Given the description of an element on the screen output the (x, y) to click on. 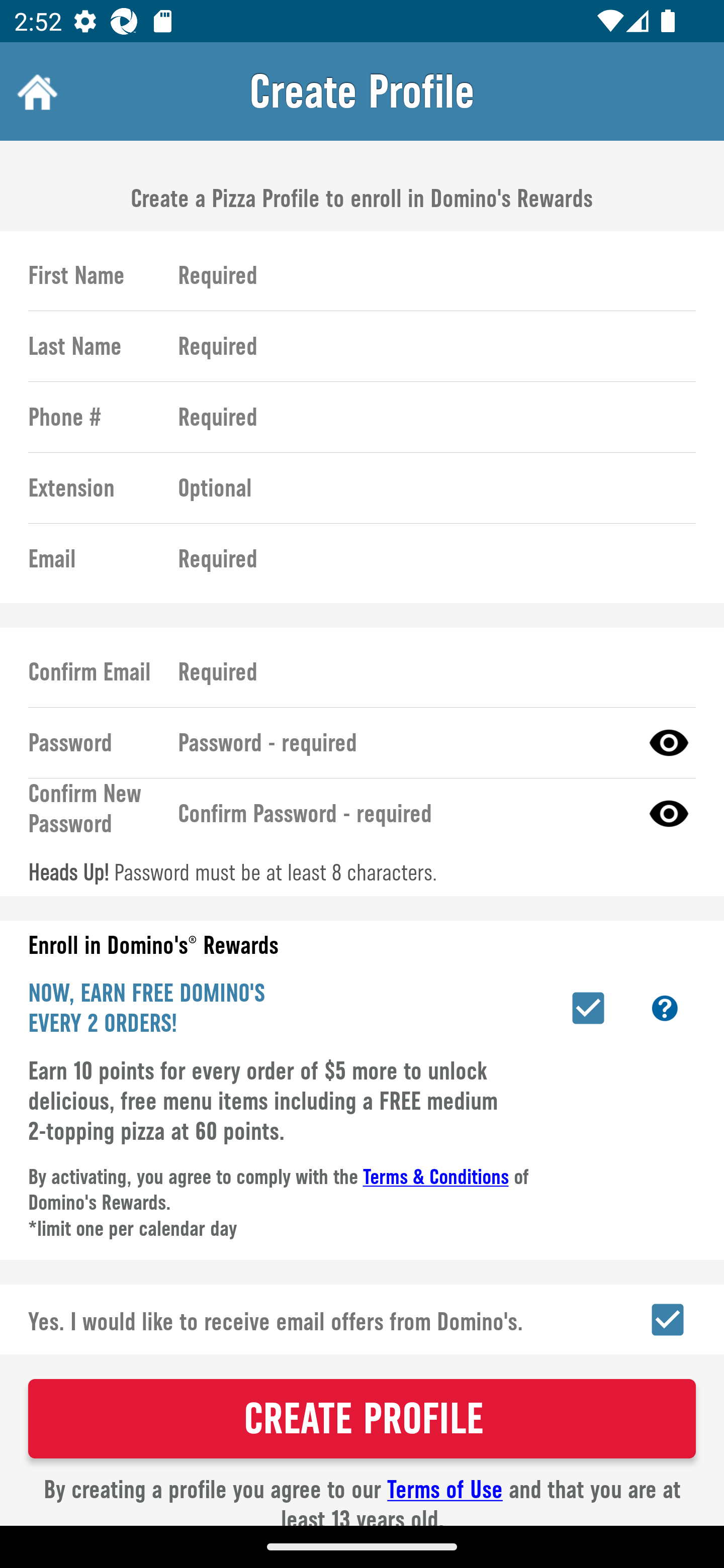
Home (35, 91)
Required First Name is required. 
 (427, 274)
Required Last Name is required. 
 (427, 345)
Required Phone Number is required. 
 (427, 416)
Optional Phone extension, optional (427, 488)
Required Email is required. 
 (427, 558)
Required Confirm Email Address (427, 671)
Password - required (401, 742)
Show Password (668, 742)
Confirm Password - required (401, 812)
Show Password (668, 812)
Enroll in Piece of the Pie Rewards (588, 1008)
CREATE PROFILE (361, 1418)
